Given the description of an element on the screen output the (x, y) to click on. 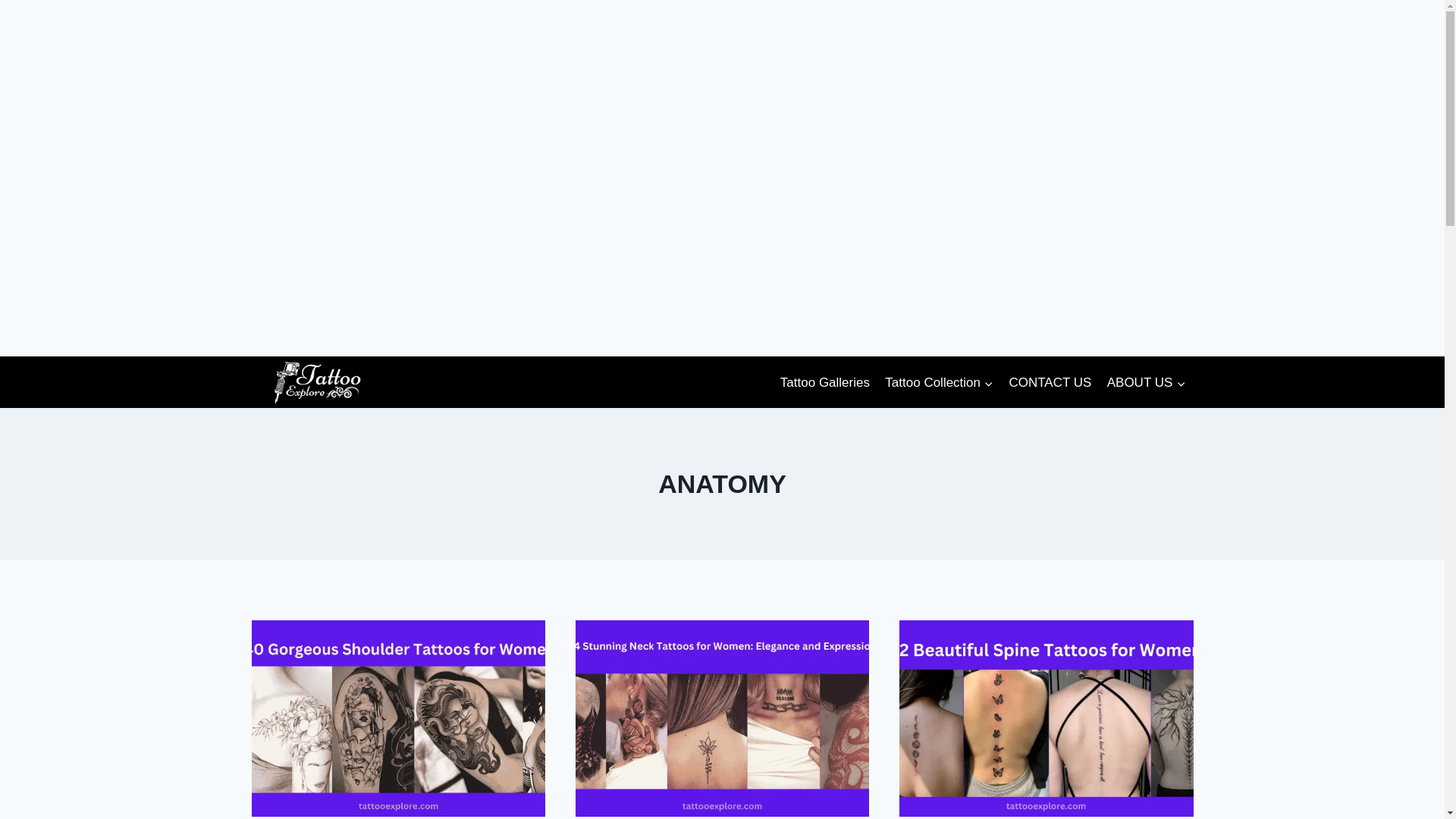
Tattoo Galleries (825, 382)
Tattoo Collection (939, 382)
Advertisement (285, 272)
CONTACT US (1050, 382)
ABOUT US (1146, 382)
